Given the description of an element on the screen output the (x, y) to click on. 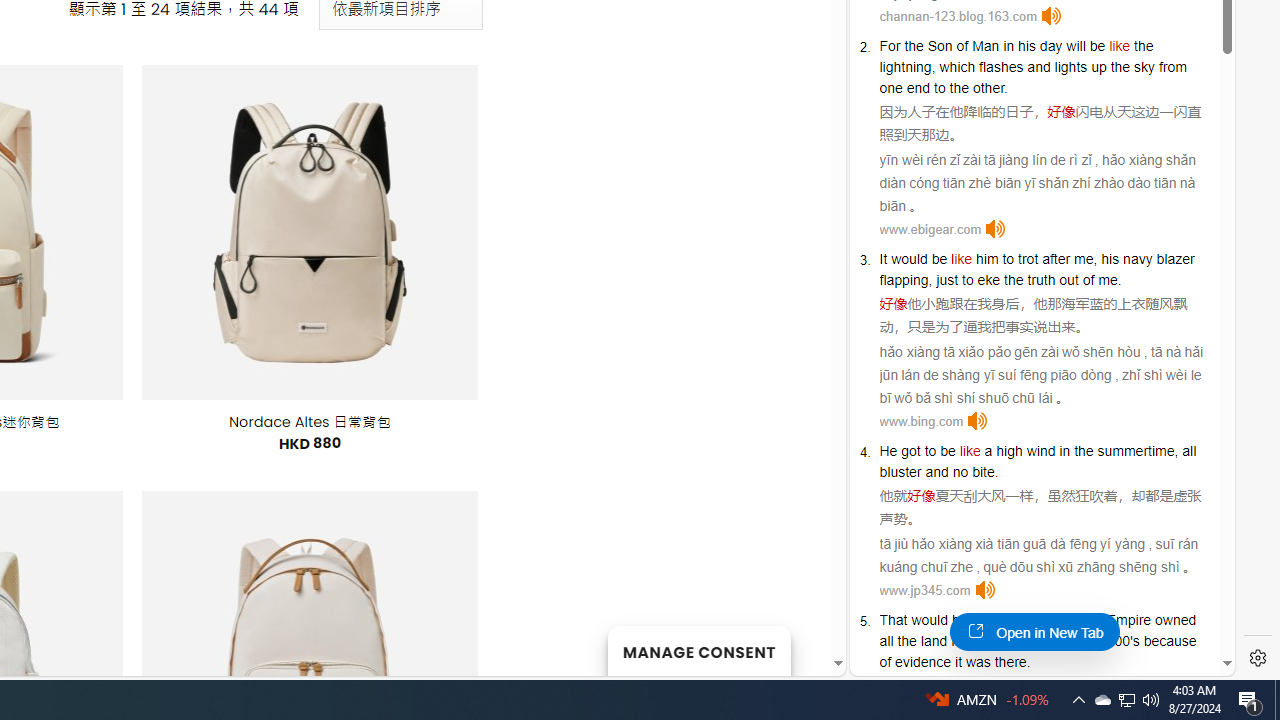
flapping (904, 280)
, (1175, 450)
sky (1144, 66)
For (890, 46)
He (888, 450)
like (982, 619)
